Given the description of an element on the screen output the (x, y) to click on. 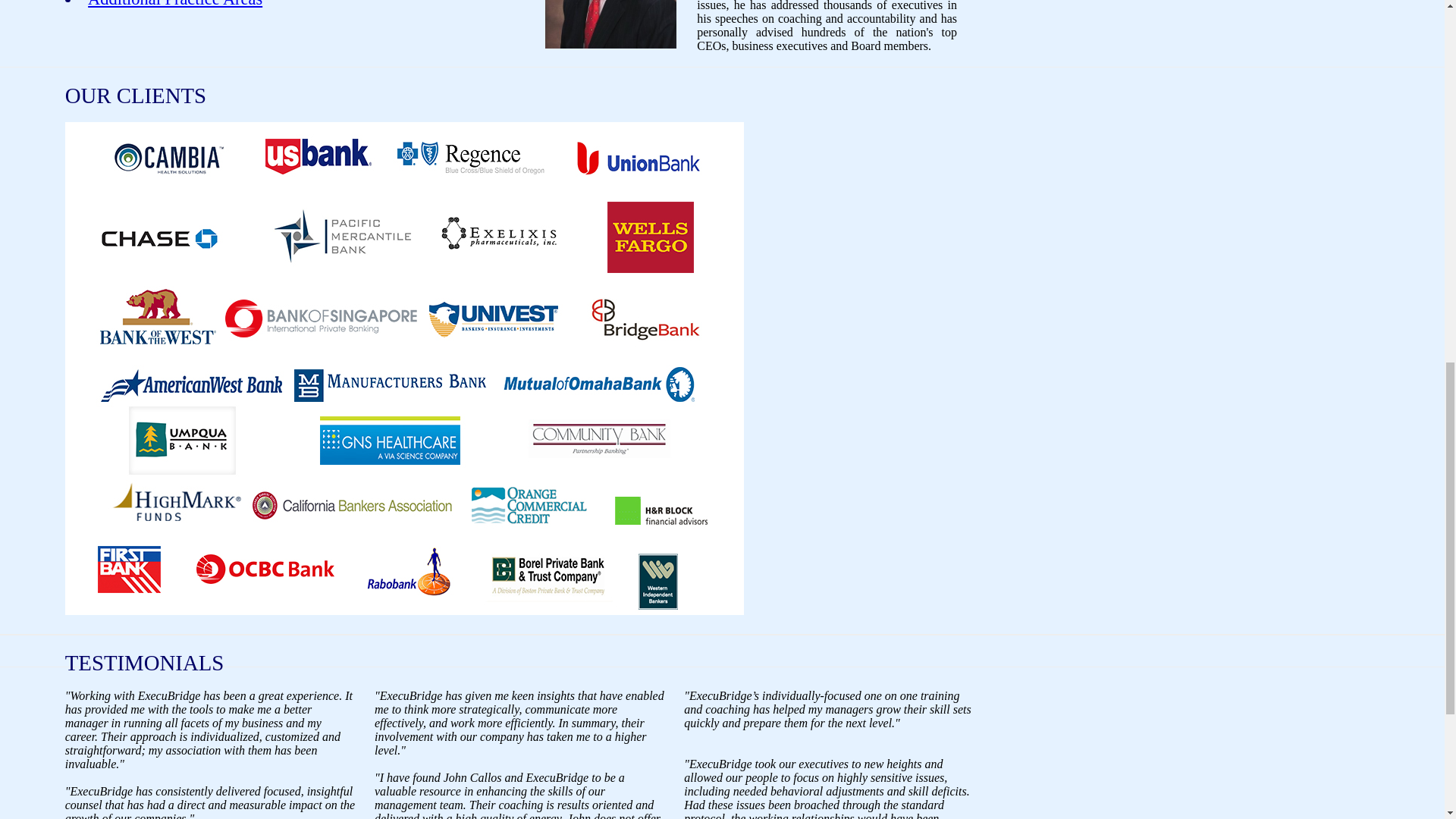
Additional Practice Areas (174, 4)
